Given the description of an element on the screen output the (x, y) to click on. 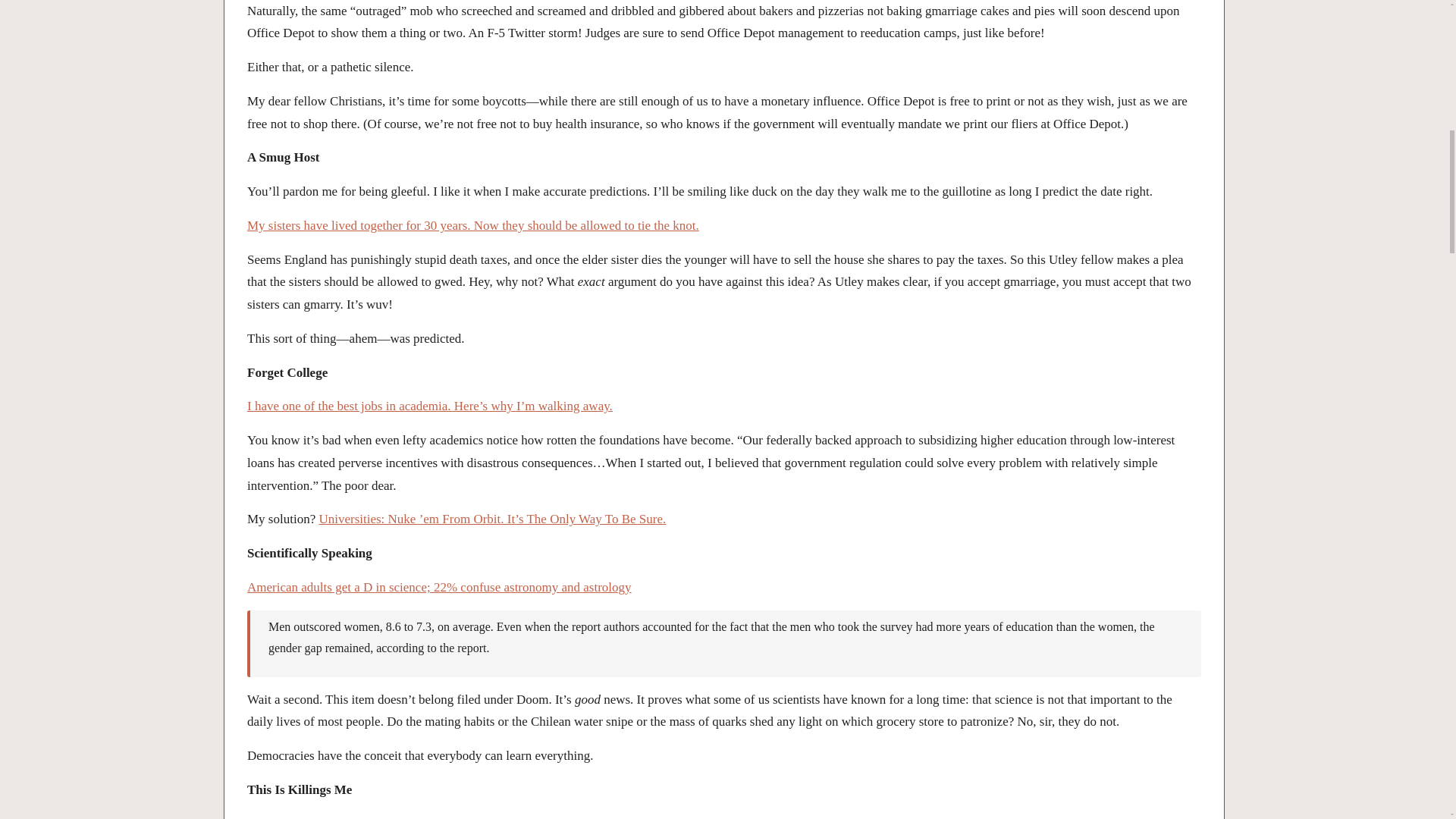
outs himself as a progressive (535, 817)
